Given the description of an element on the screen output the (x, y) to click on. 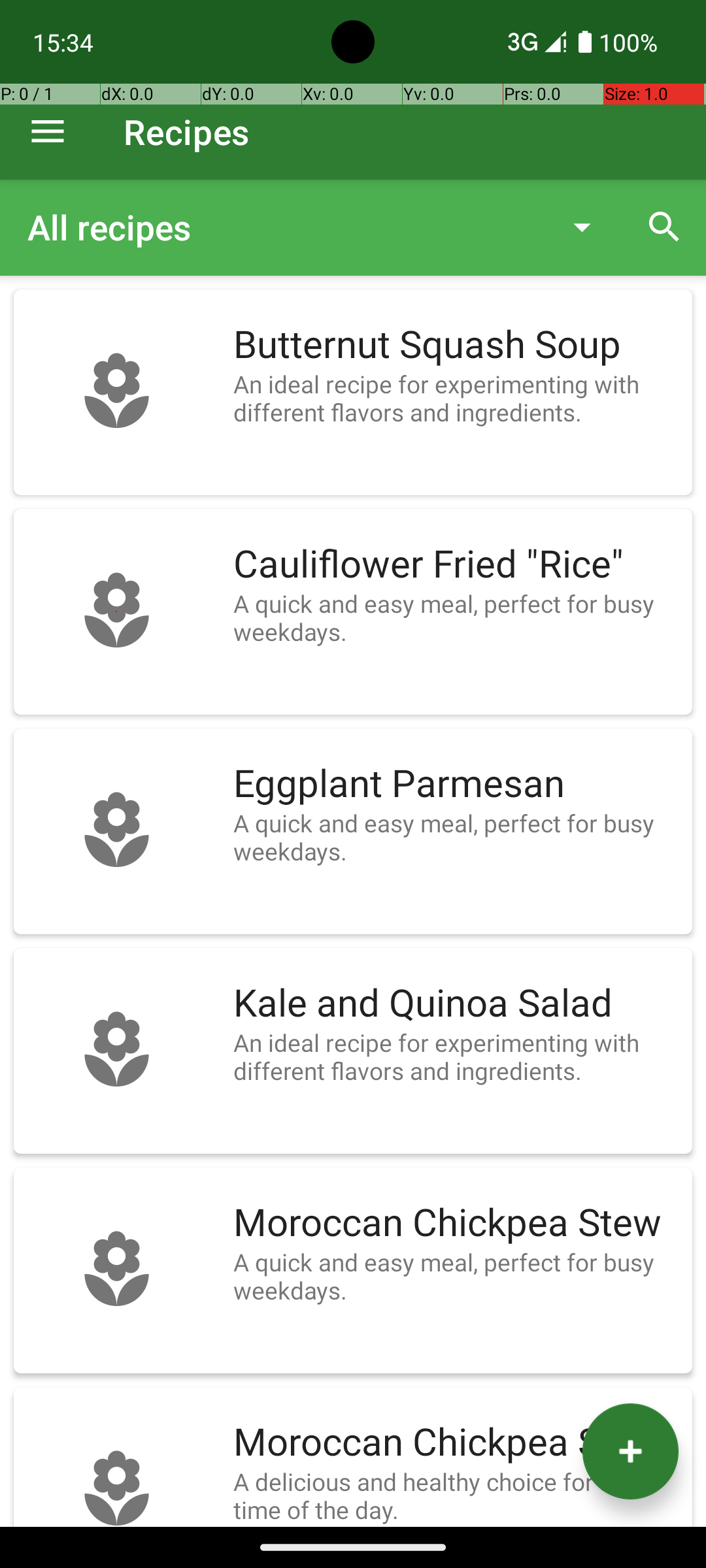
Eggplant Parmesan Element type: android.widget.TextView (455, 783)
Kale and Quinoa Salad Element type: android.widget.TextView (455, 1003)
Moroccan Chickpea Stew Element type: android.widget.TextView (455, 1222)
